Given the description of an element on the screen output the (x, y) to click on. 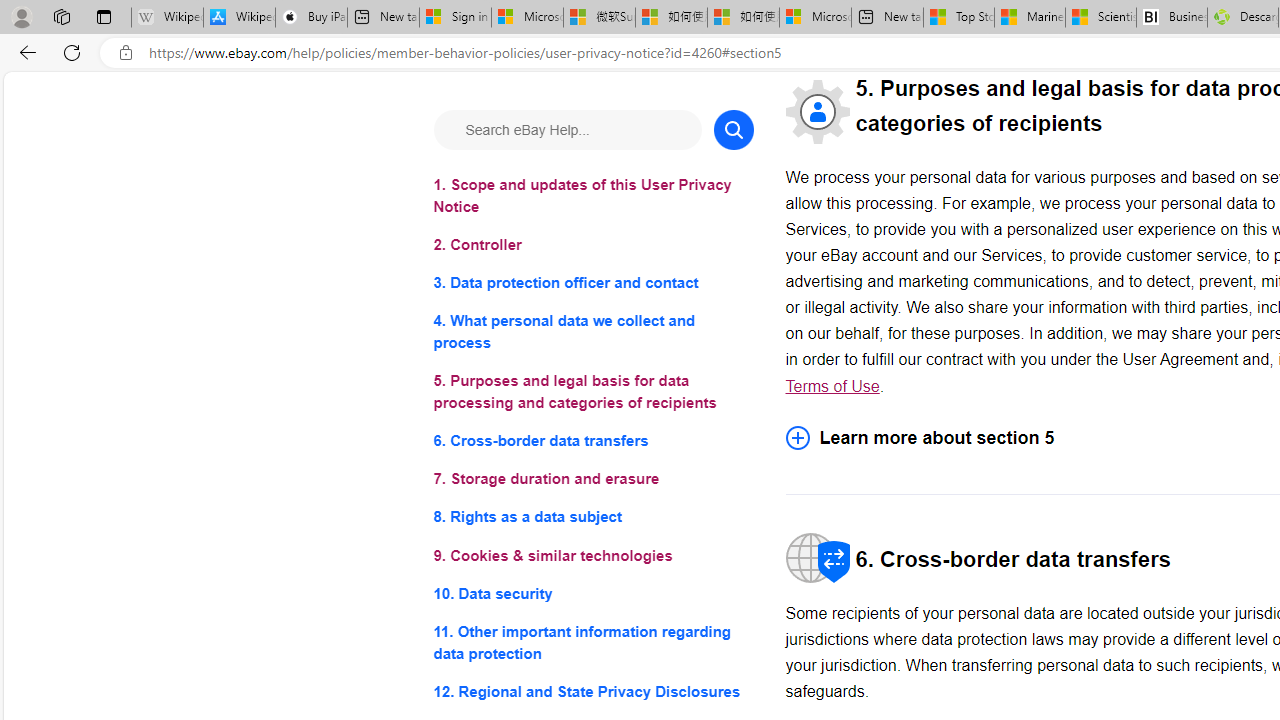
9. Cookies & similar technologies (592, 555)
Microsoft Services Agreement (527, 17)
3. Data protection officer and contact (592, 283)
Buy iPad - Apple (311, 17)
7. Storage duration and erasure (592, 479)
1. Scope and updates of this User Privacy Notice (592, 196)
1. Scope and updates of this User Privacy Notice (592, 196)
9. Cookies & similar technologies (592, 555)
11. Other important information regarding data protection (592, 642)
